Given the description of an element on the screen output the (x, y) to click on. 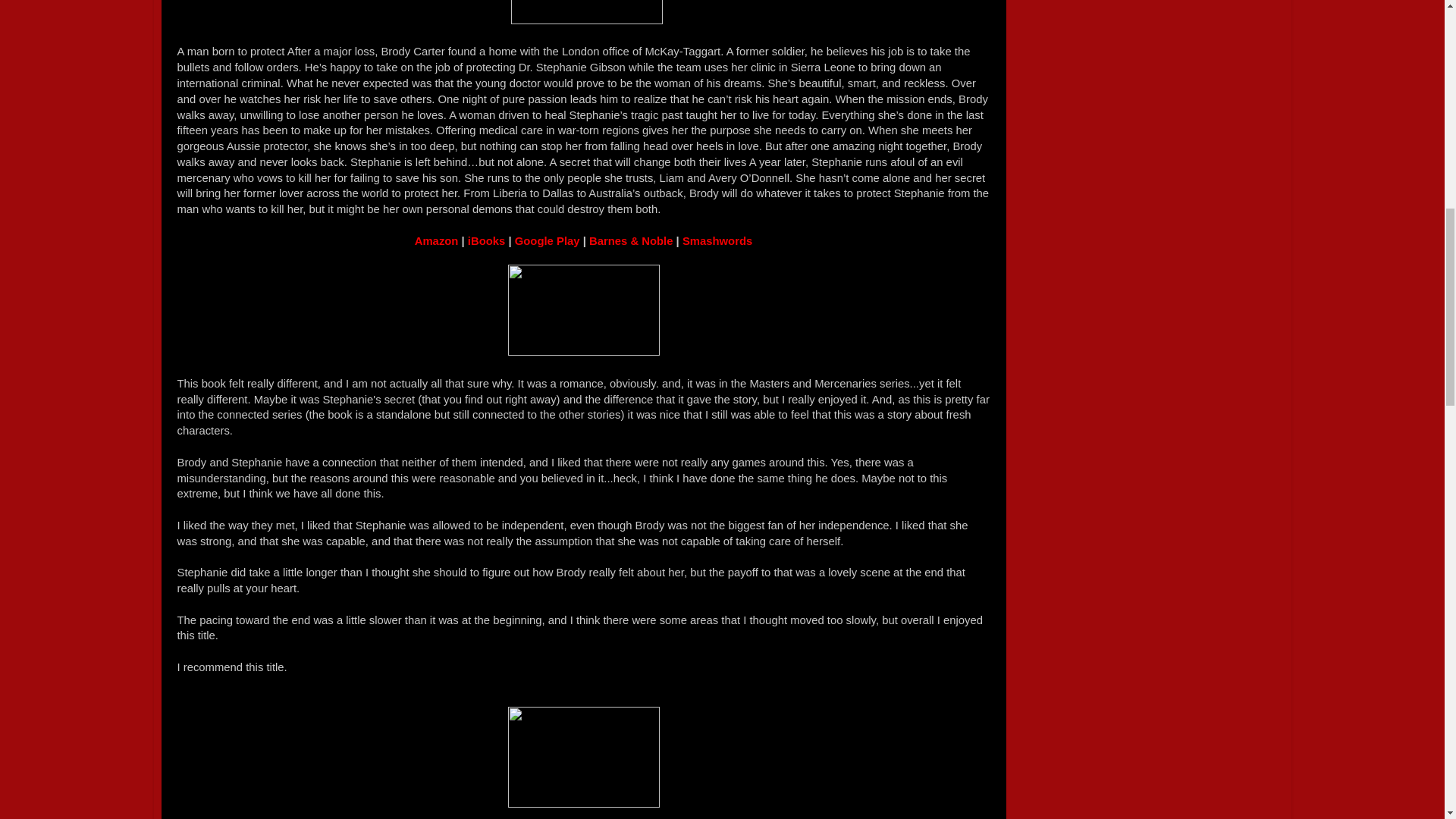
Amazon (436, 241)
Smashwords (717, 241)
iBooks (486, 241)
Google Play (549, 241)
